Given the description of an element on the screen output the (x, y) to click on. 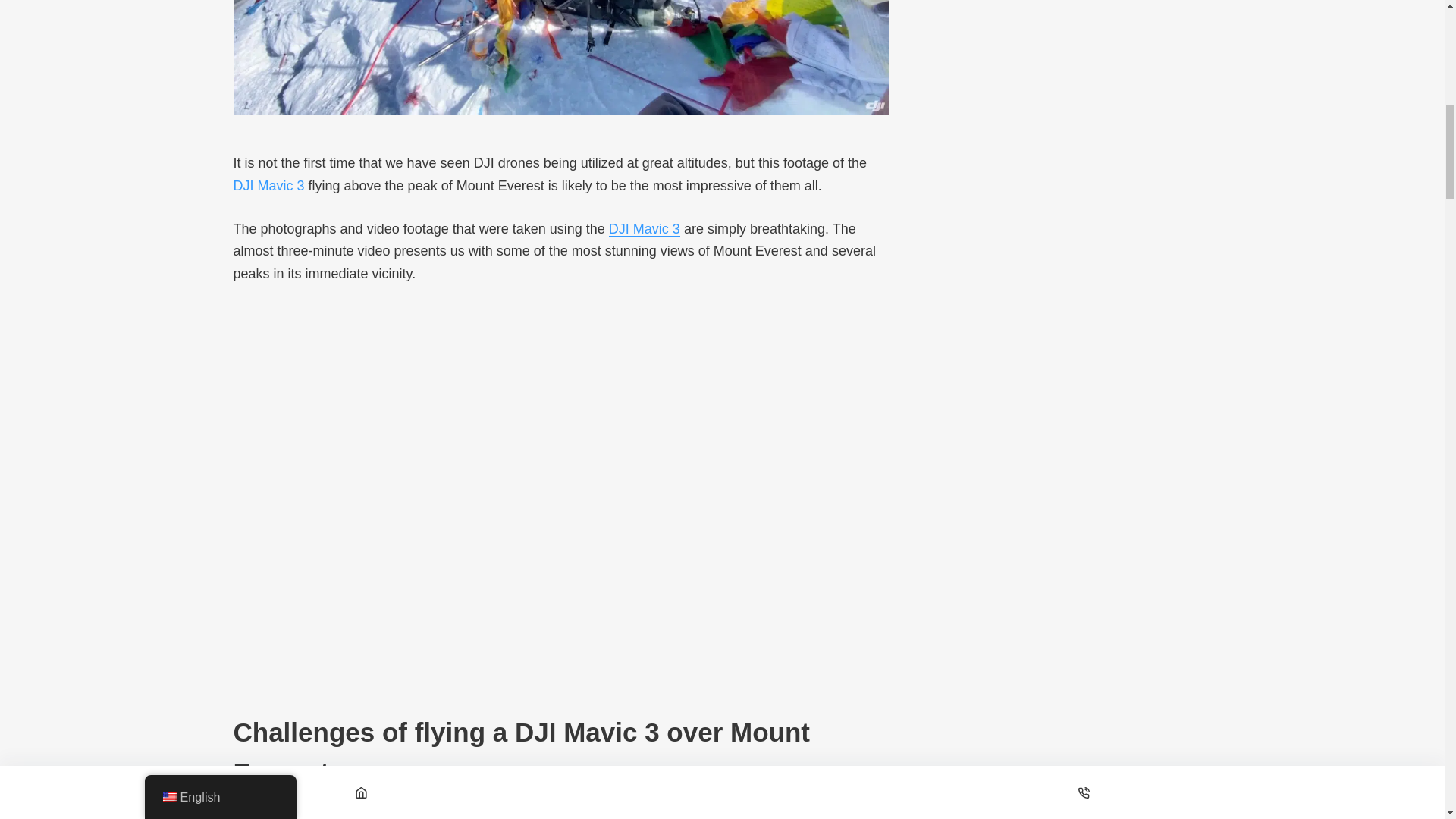
Posts in the category DJI Mavic 3 (268, 185)
DJI Mavic 3 (643, 228)
